Given the description of an element on the screen output the (x, y) to click on. 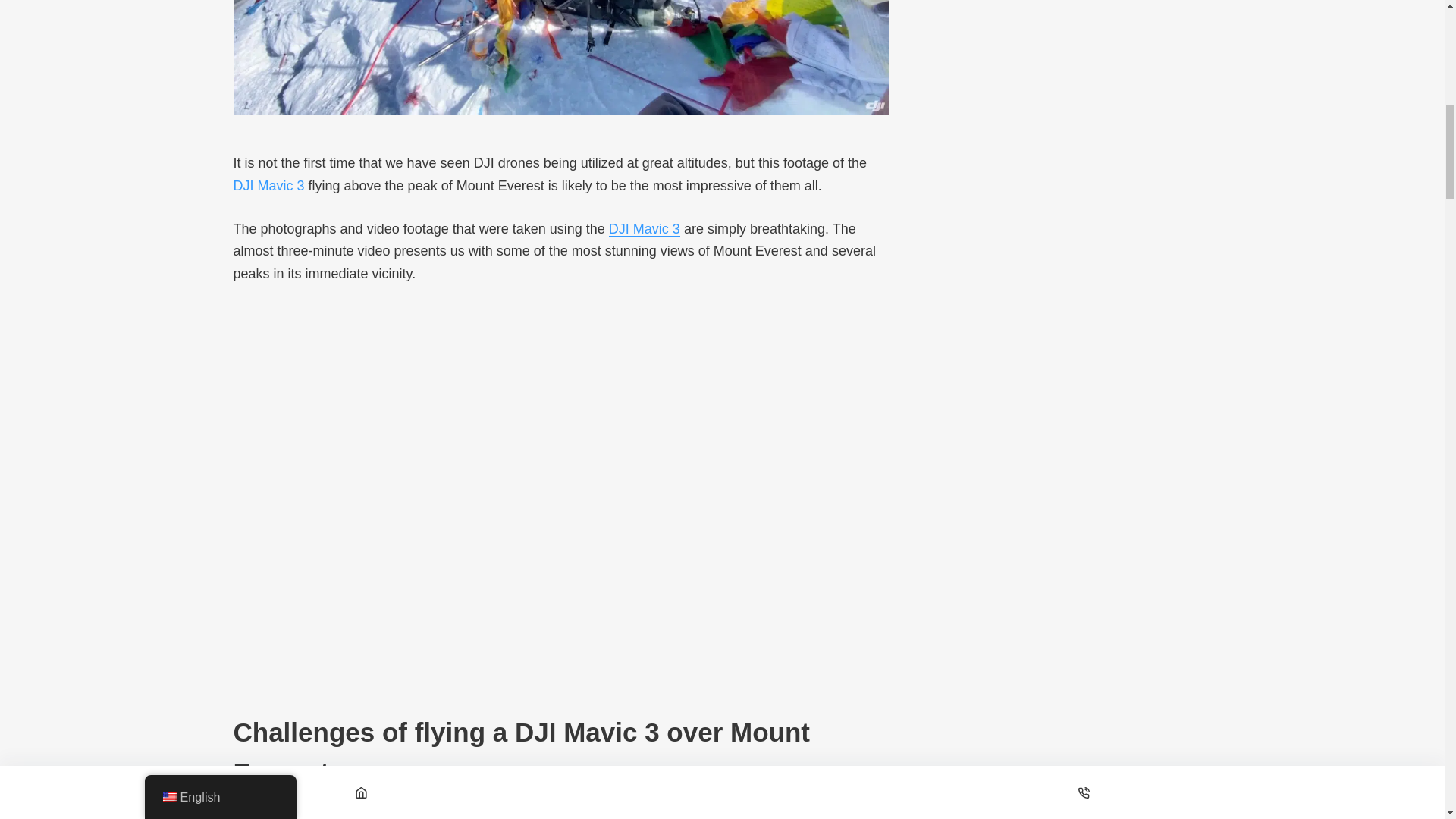
Posts in the category DJI Mavic 3 (268, 185)
DJI Mavic 3 (643, 228)
